Given the description of an element on the screen output the (x, y) to click on. 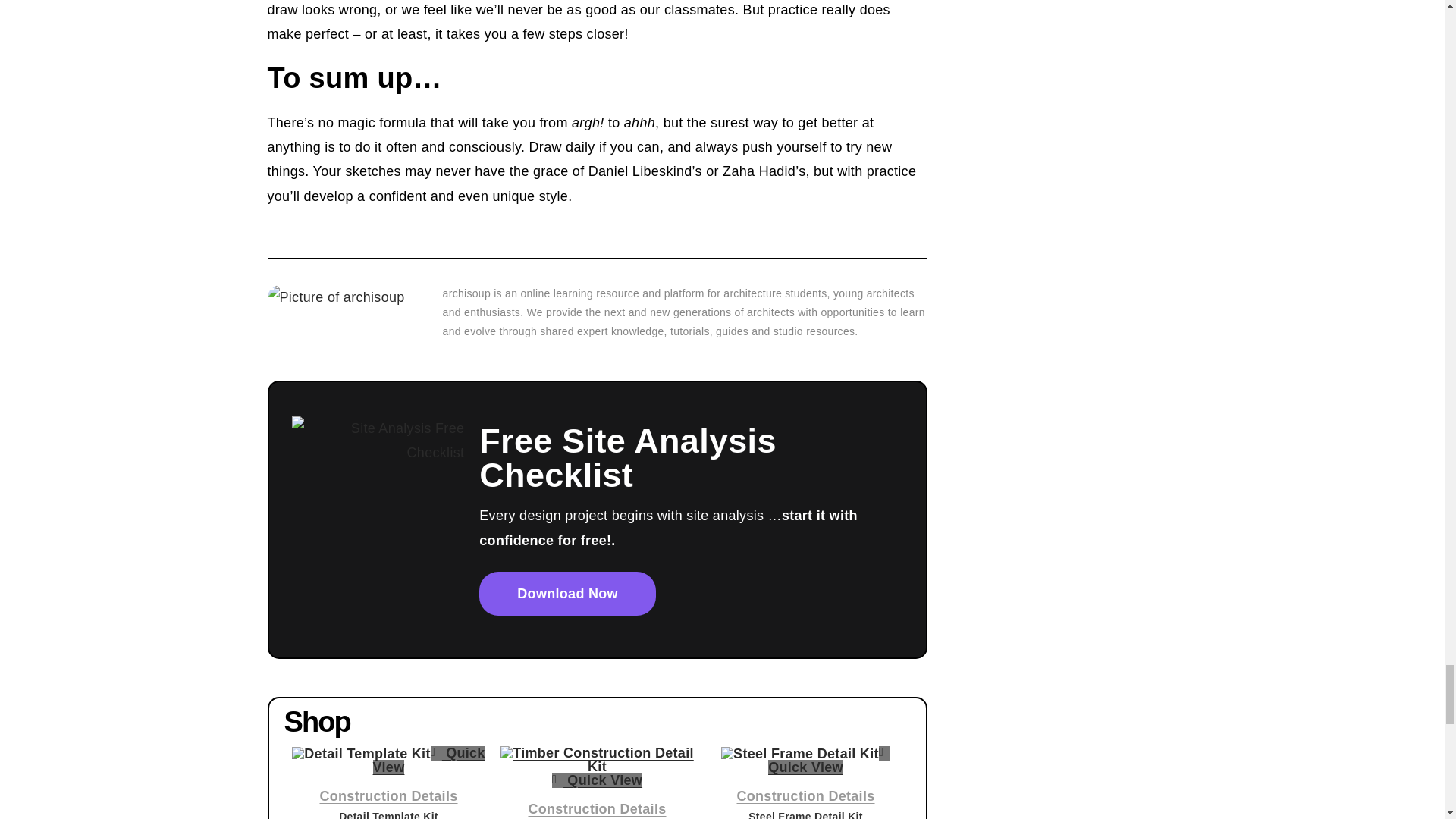
Detail Template Kit (388, 814)
Quick View (428, 759)
Download Now (567, 593)
Steel Frame Detail Kit (805, 814)
Quick View (596, 780)
Construction Details (805, 795)
Construction Details (387, 795)
Quick View (828, 759)
Construction Details (596, 808)
